Given the description of an element on the screen output the (x, y) to click on. 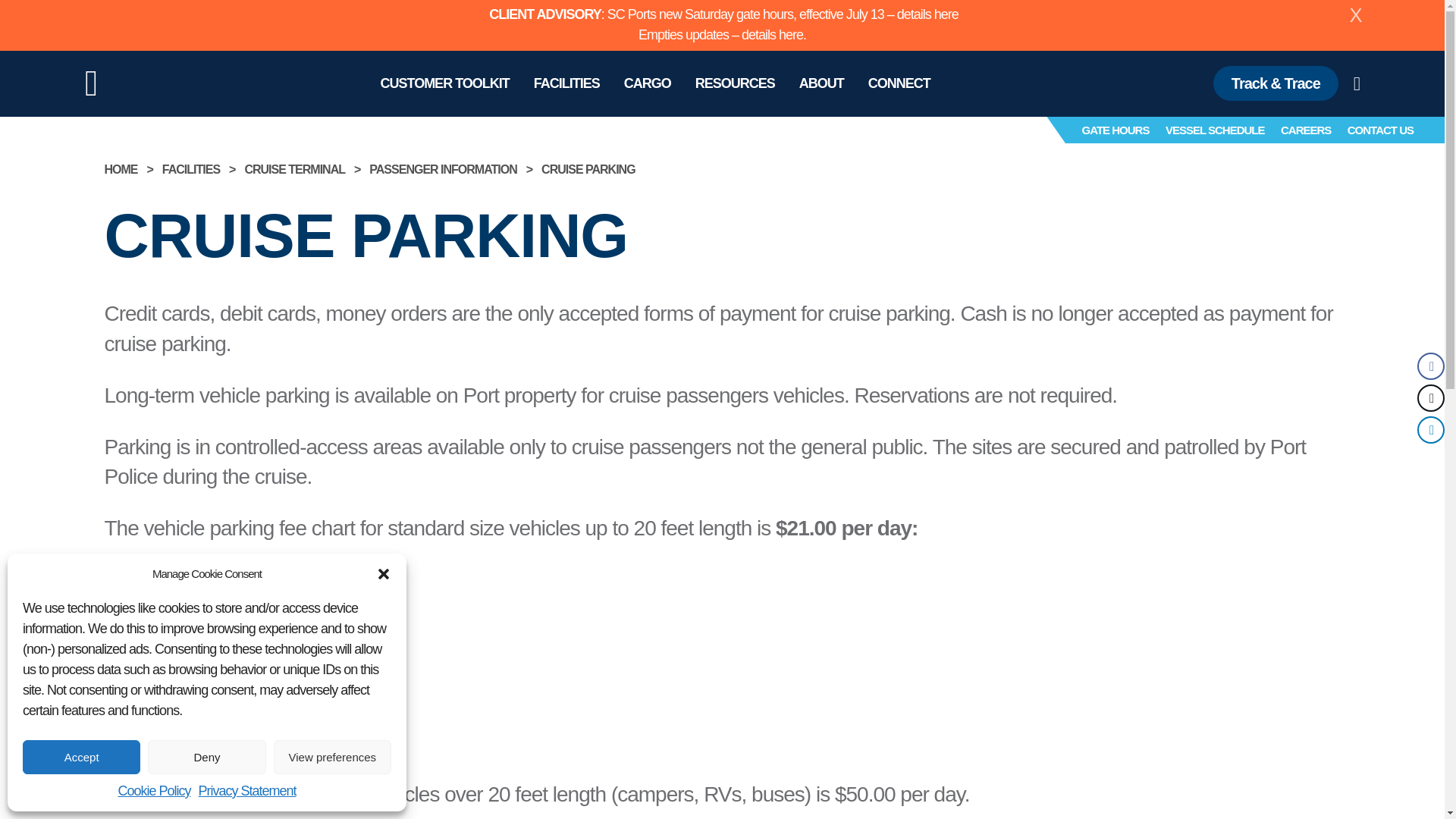
here (946, 14)
here (790, 34)
Cookie Policy (153, 791)
Accept (81, 756)
Go to Facilities. (190, 169)
View preferences (332, 756)
Privacy Statement (246, 791)
Go to SC Ports Authority. (121, 169)
Deny (206, 756)
Go to Cruise Terminal. (294, 169)
Go to Passenger Information. (442, 169)
